Given the description of an element on the screen output the (x, y) to click on. 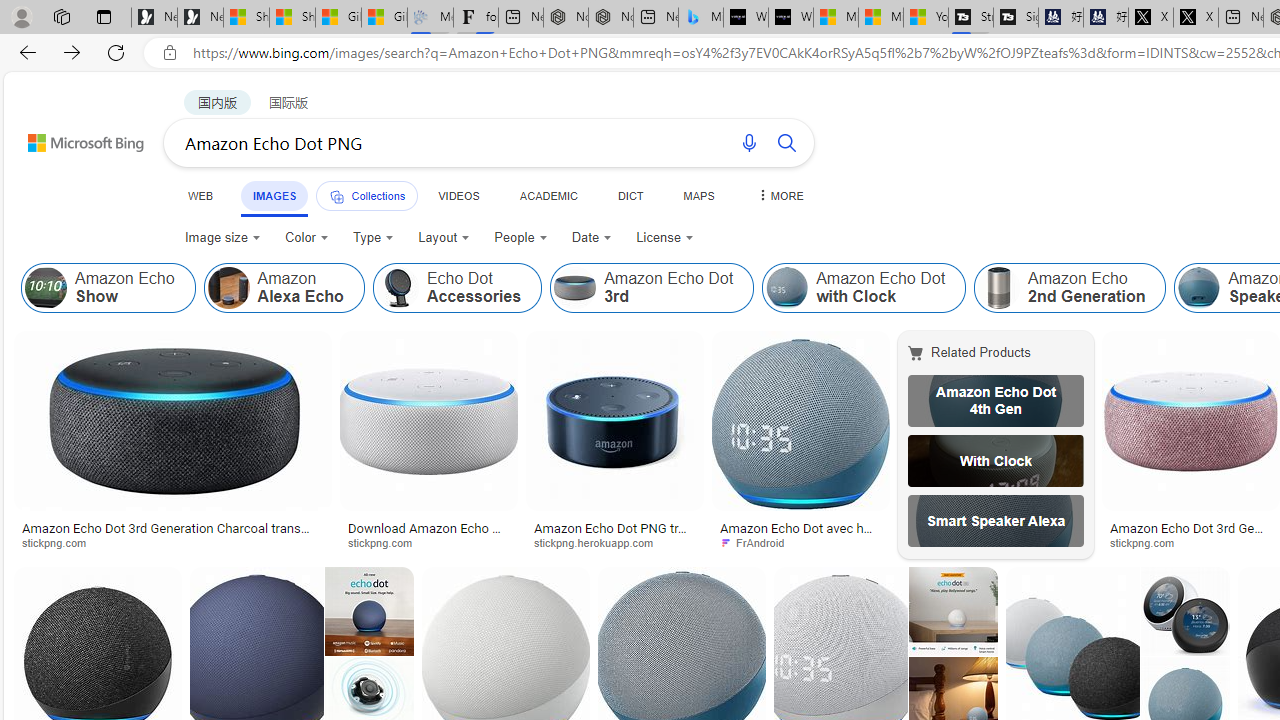
stickpng.herokuapp.com (600, 541)
Image result for Amazon Echo Dot PNG (1185, 611)
Microsoft Bing Travel - Shangri-La Hotel Bangkok (700, 17)
Image size (222, 237)
Type (373, 237)
stickpng.com (1190, 542)
DICT (630, 195)
Amazon Echo Speaker (1199, 287)
